Given the description of an element on the screen output the (x, y) to click on. 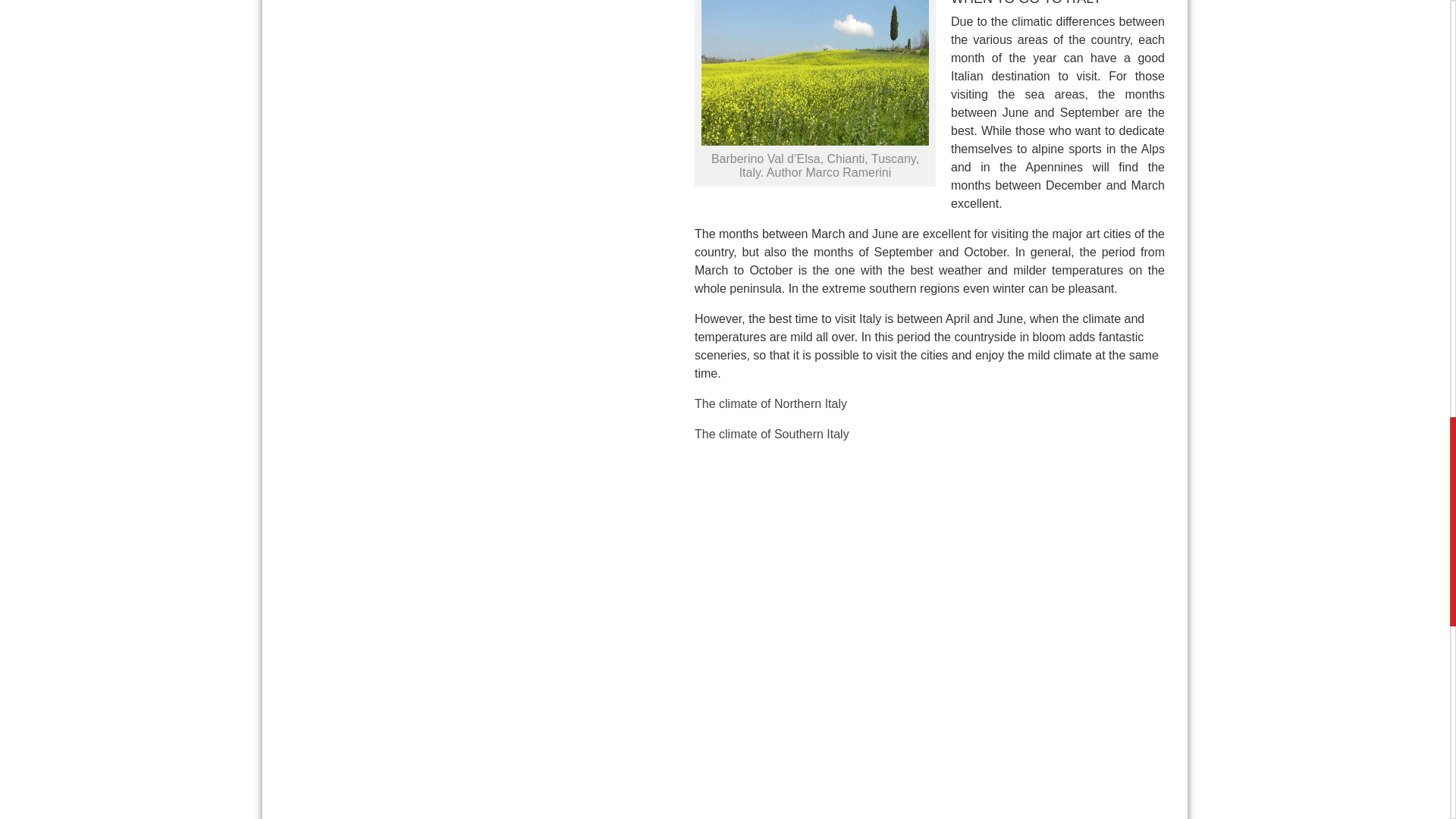
Florence, Tuscany - Italy (929, 772)
Northern Italy climate: when to go to Northern Italy (770, 403)
The climate of Northern Italy (770, 403)
Southern Italy climate: when to go to Southern Italy (771, 433)
The climate of Southern Italy (771, 433)
Castelluccio di Norcia, Umbria - Italy (929, 587)
